Given the description of an element on the screen output the (x, y) to click on. 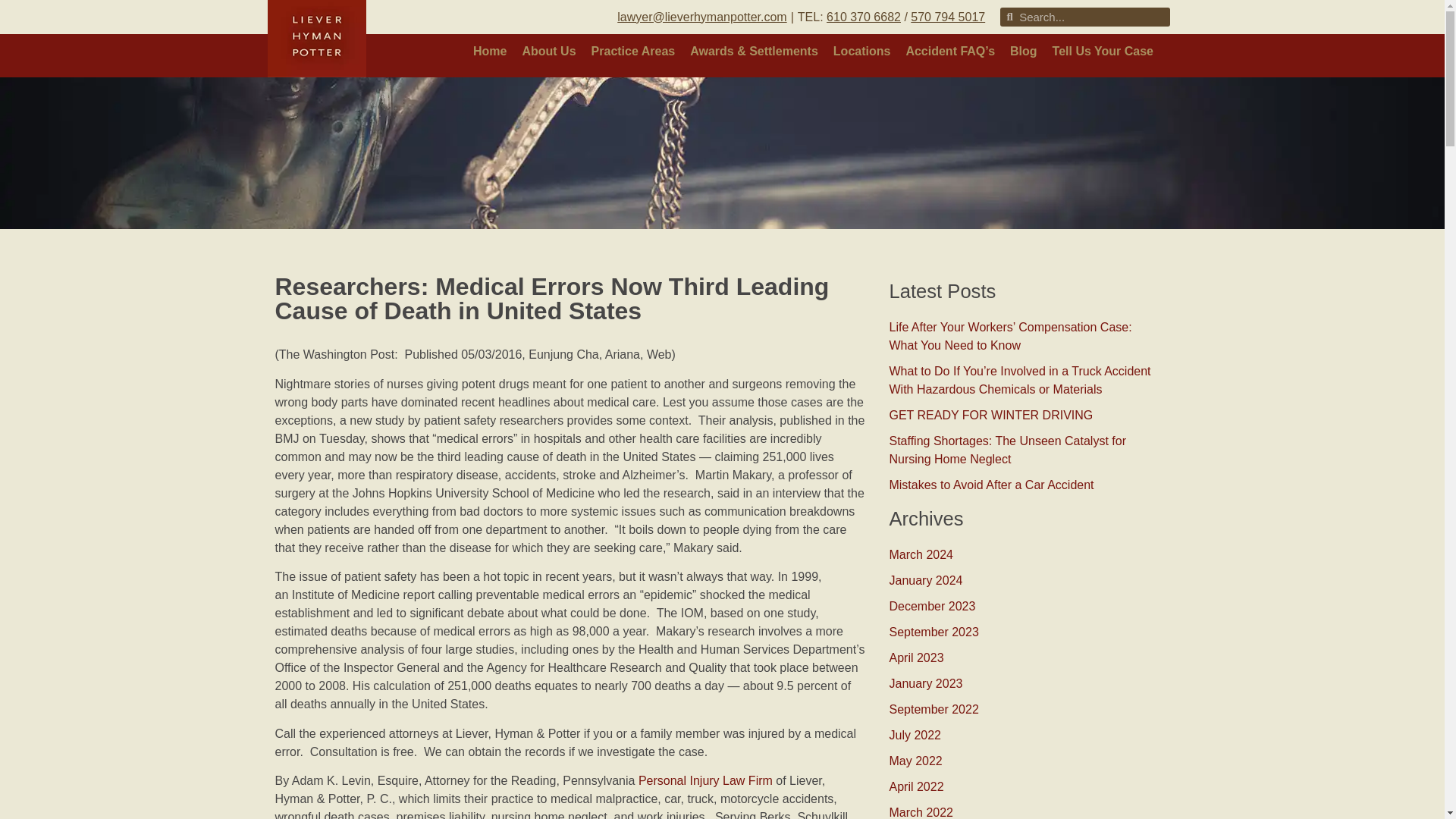
570 794 5017 (948, 16)
Blog (1024, 51)
Practice Areas (632, 51)
Locations (861, 51)
Home (489, 51)
About Us (548, 51)
Tell Us Your Case (1102, 51)
610 370 6682 (864, 16)
